Given the description of an element on the screen output the (x, y) to click on. 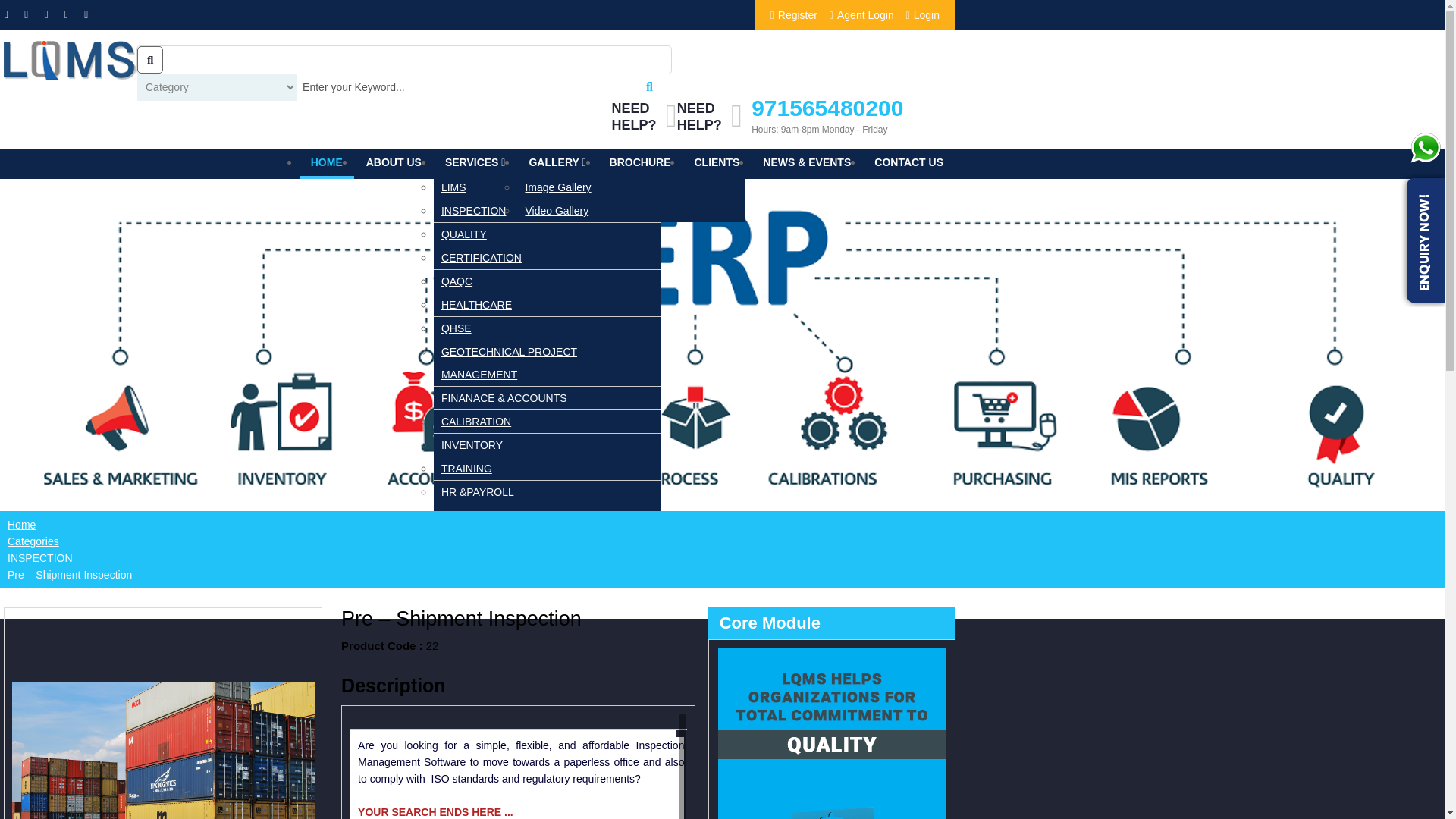
Contact Us (909, 162)
HOME (326, 163)
QHSE (547, 327)
CONTACT US (909, 162)
GEOTECHNICAL PROJECT MANAGEMENT (547, 362)
Video Gallery (630, 210)
TRAINING (547, 468)
About Us (393, 162)
CLIENTS (716, 162)
Image Gallery (630, 187)
INSPECTION (547, 210)
INVENTORY (547, 445)
GALLERY (556, 162)
LQMS (68, 78)
Clients (716, 162)
